Given the description of an element on the screen output the (x, y) to click on. 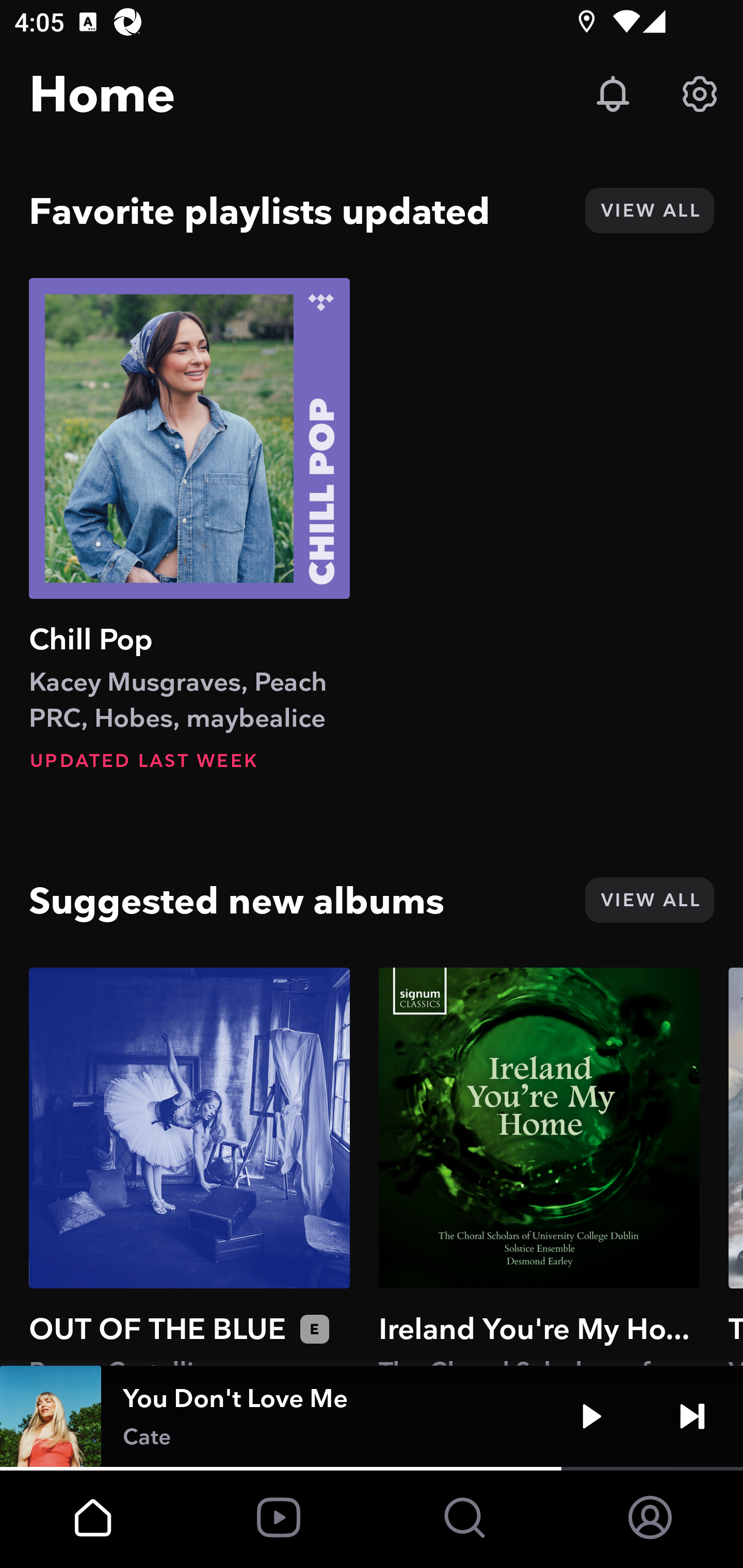
Updates (612, 93)
Settings (699, 93)
VIEW ALL (649, 210)
VIEW ALL (649, 899)
OUT OF THE BLUE Brynn Cartelli (188, 1166)
You Don't Love Me Cate Play (371, 1416)
Play (590, 1416)
